Given the description of an element on the screen output the (x, y) to click on. 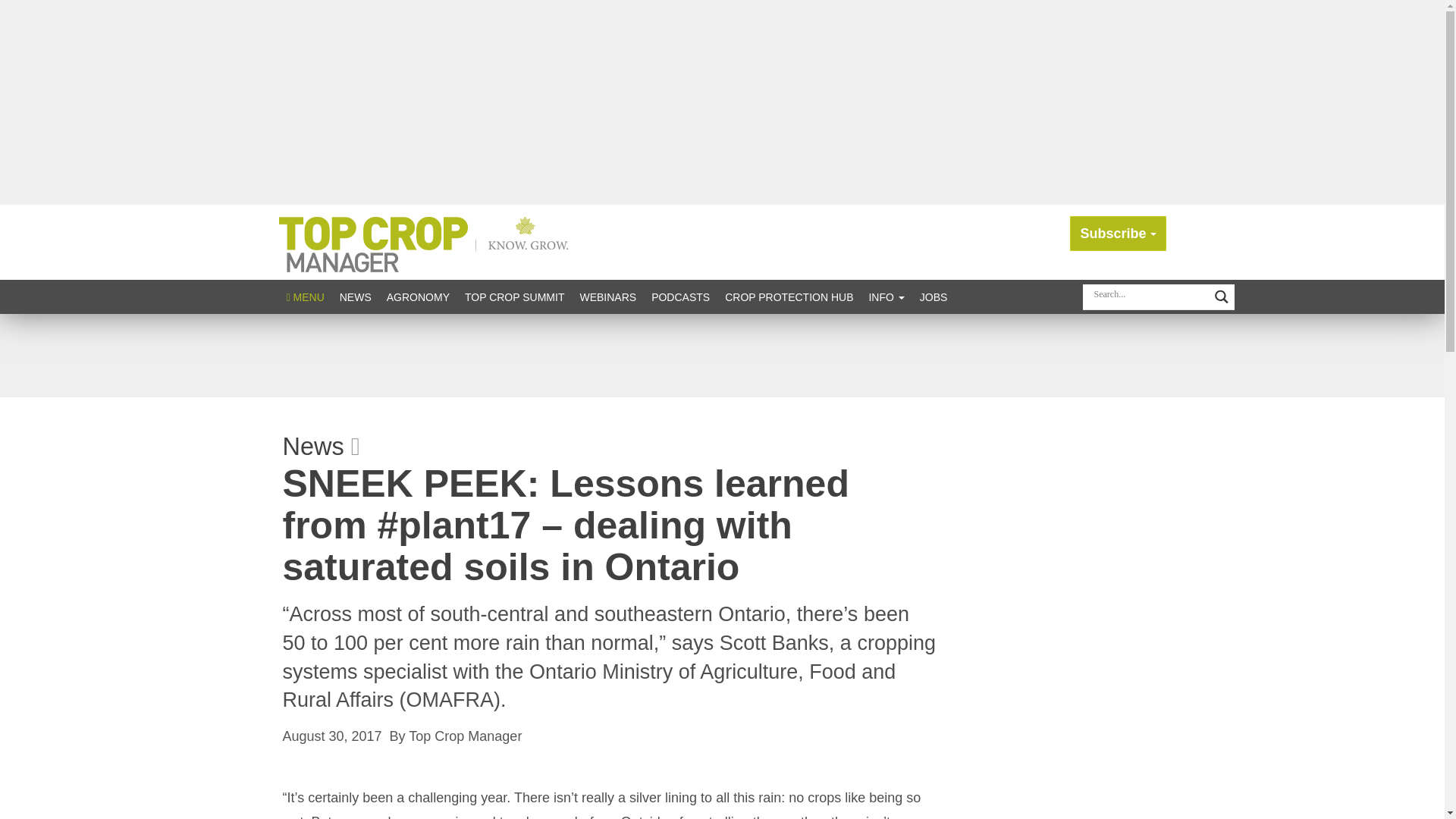
Click to show site navigation (305, 296)
WEBINARS (607, 296)
AGRONOMY (417, 296)
MENU (305, 296)
Top Crop Manager (427, 240)
JOBS (933, 296)
NEWS (354, 296)
TOP CROP SUMMIT (514, 296)
3rd party ad content (721, 355)
CROP PROTECTION HUB (788, 296)
